Given the description of an element on the screen output the (x, y) to click on. 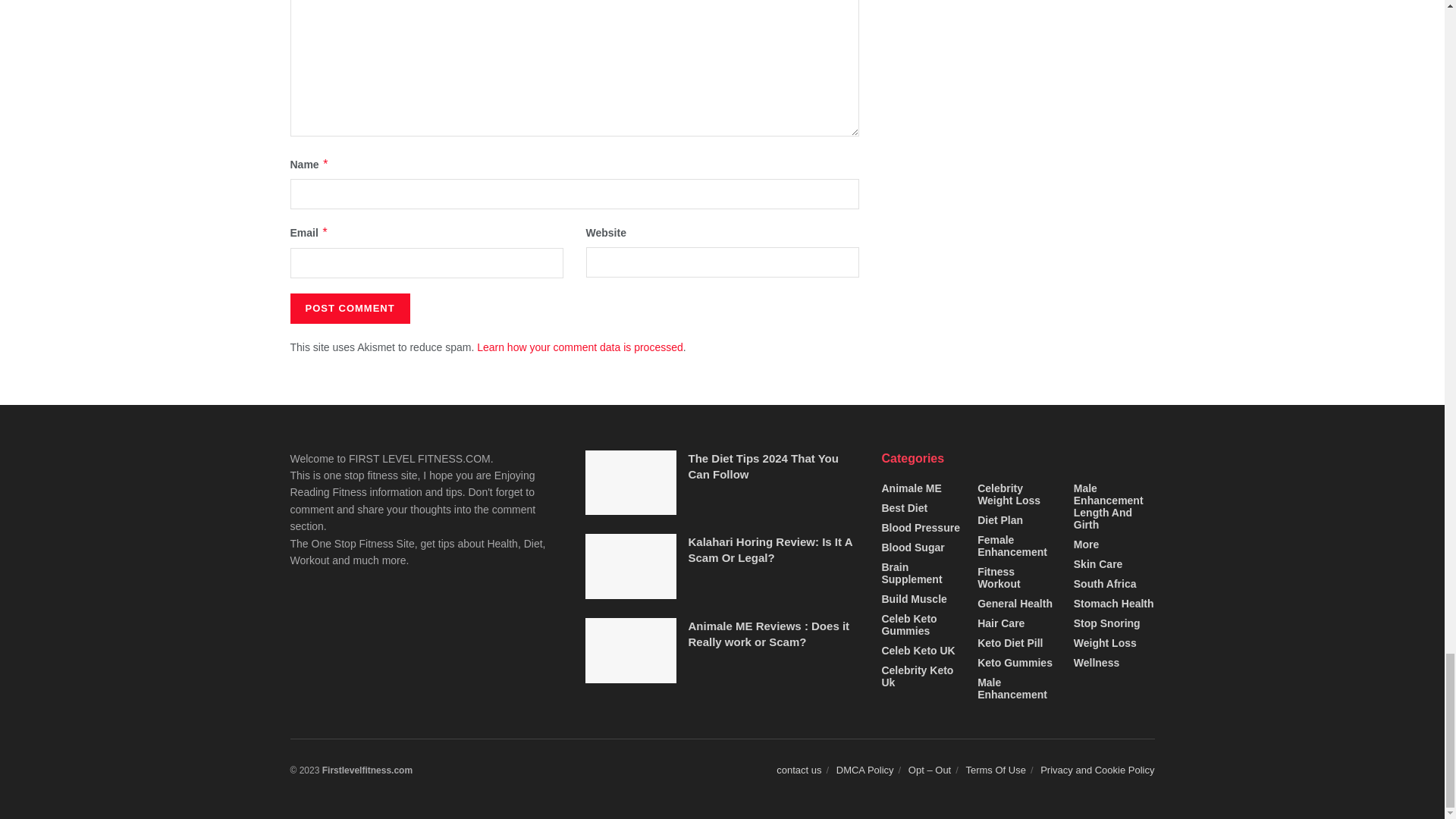
Post Comment (349, 308)
